Given the description of an element on the screen output the (x, y) to click on. 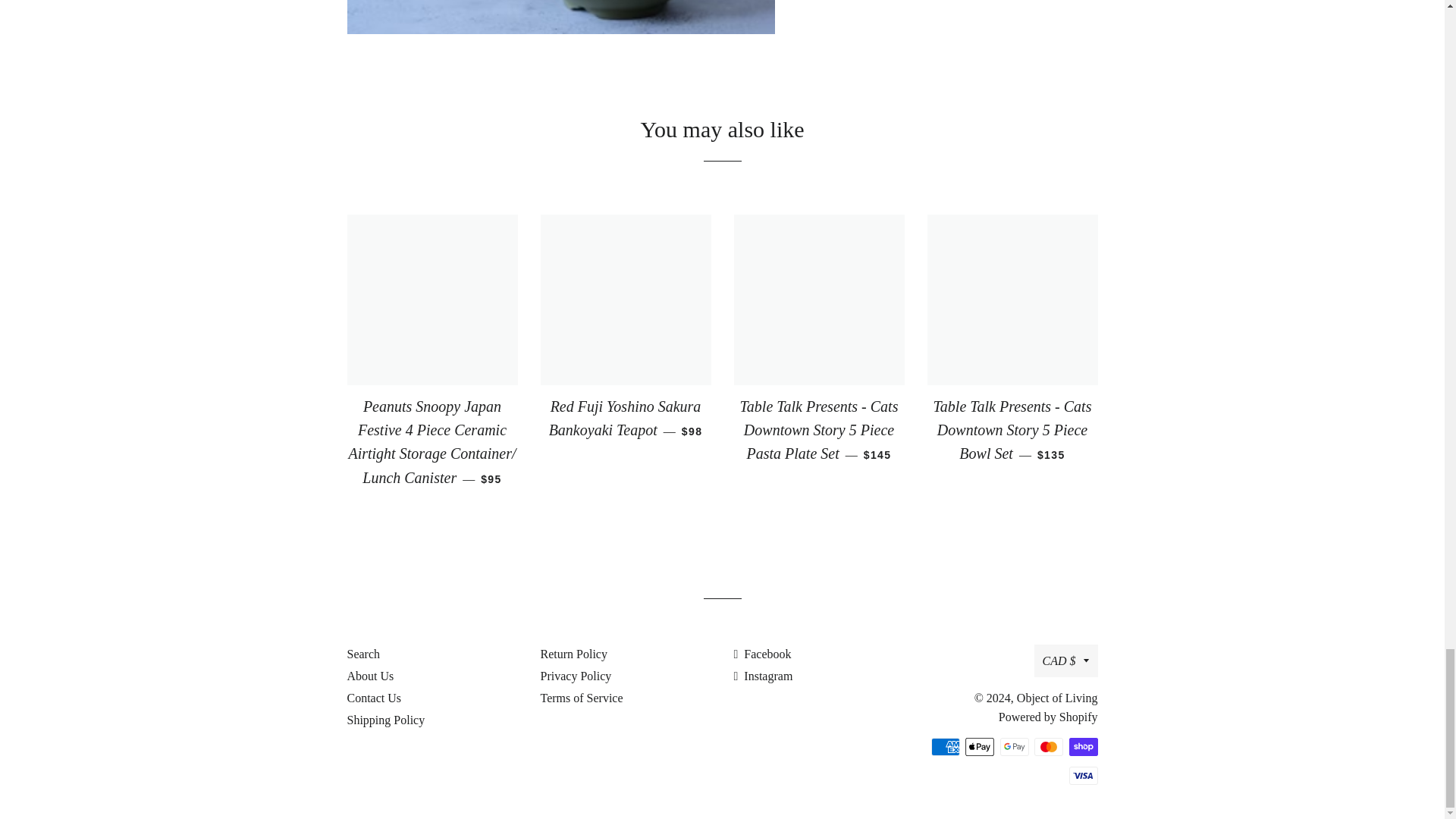
Mastercard (1047, 746)
American Express (945, 746)
Google Pay (1012, 746)
Object of Living on Facebook (762, 653)
Object of Living on Instagram (763, 675)
Shop Pay (1082, 746)
Apple Pay (979, 746)
Visa (1082, 775)
